Given the description of an element on the screen output the (x, y) to click on. 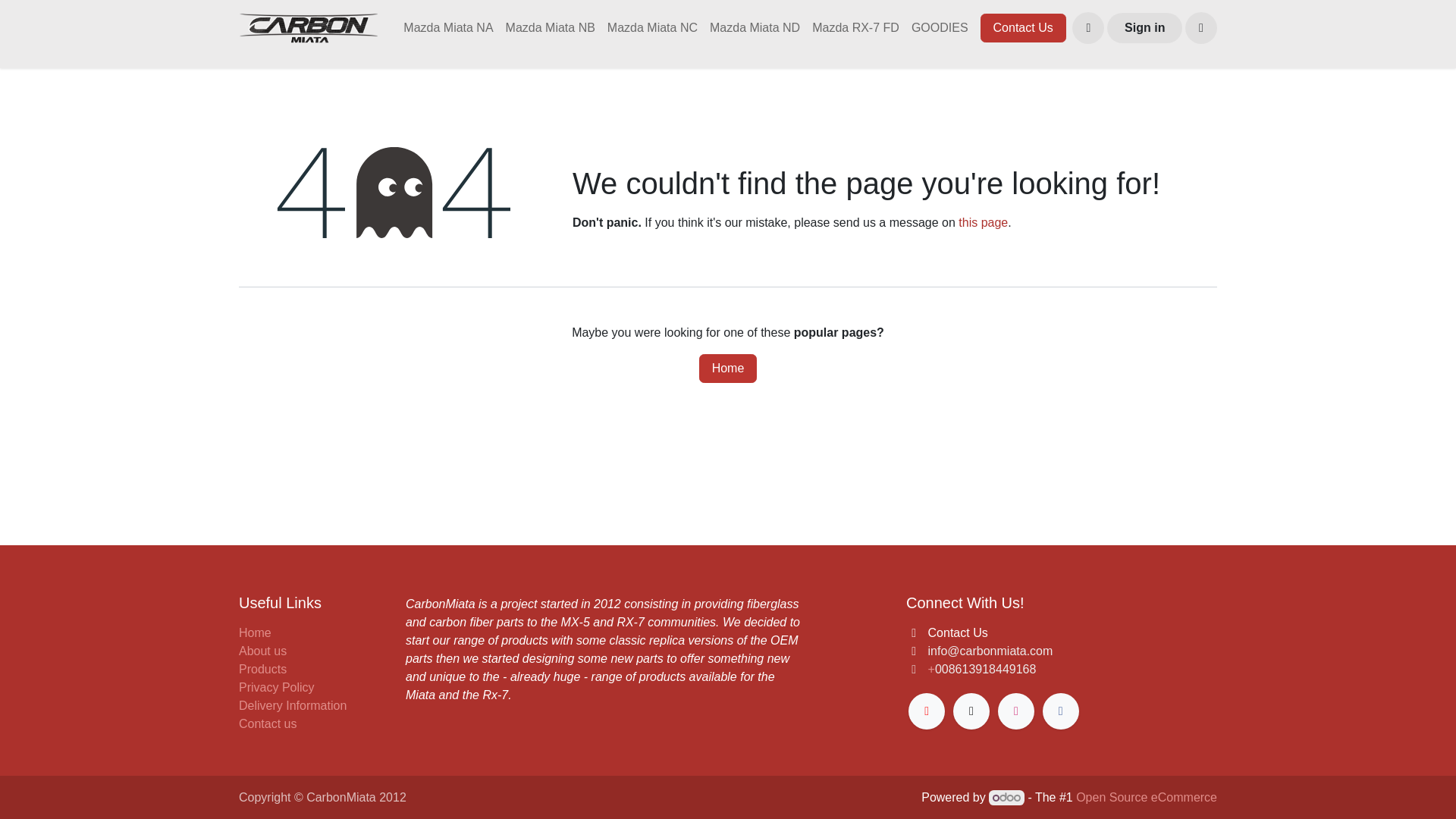
GOODIES (939, 28)
Products (262, 668)
Mazda Miata NA (448, 28)
Mazda Miata ND (754, 28)
Contact us (267, 723)
this page (982, 222)
Home (254, 632)
CarbonMiata (308, 28)
Contact Us (1022, 27)
Home (727, 368)
